Given the description of an element on the screen output the (x, y) to click on. 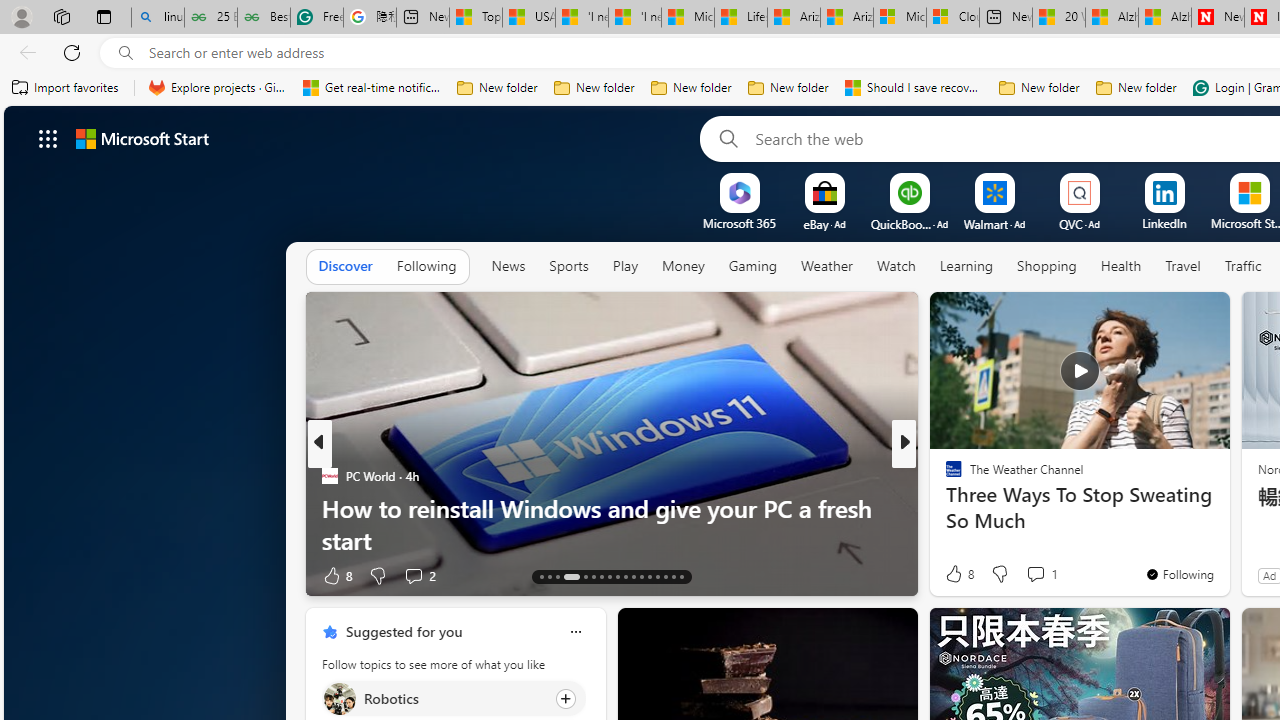
USA TODAY - MSN (529, 17)
Best SSL Certificates Provider in India - GeeksforGeeks (264, 17)
Sports (569, 267)
The Manual (944, 475)
AutomationID: tab-13 (541, 576)
AutomationID: tab-22 (624, 576)
View comments 1 Comment (1035, 573)
How to reinstall Windows and give your PC a fresh start (611, 523)
Learning (966, 267)
View comments 3 Comment (1042, 575)
Play (625, 265)
Travel (1183, 267)
Cheapism (944, 507)
